Given the description of an element on the screen output the (x, y) to click on. 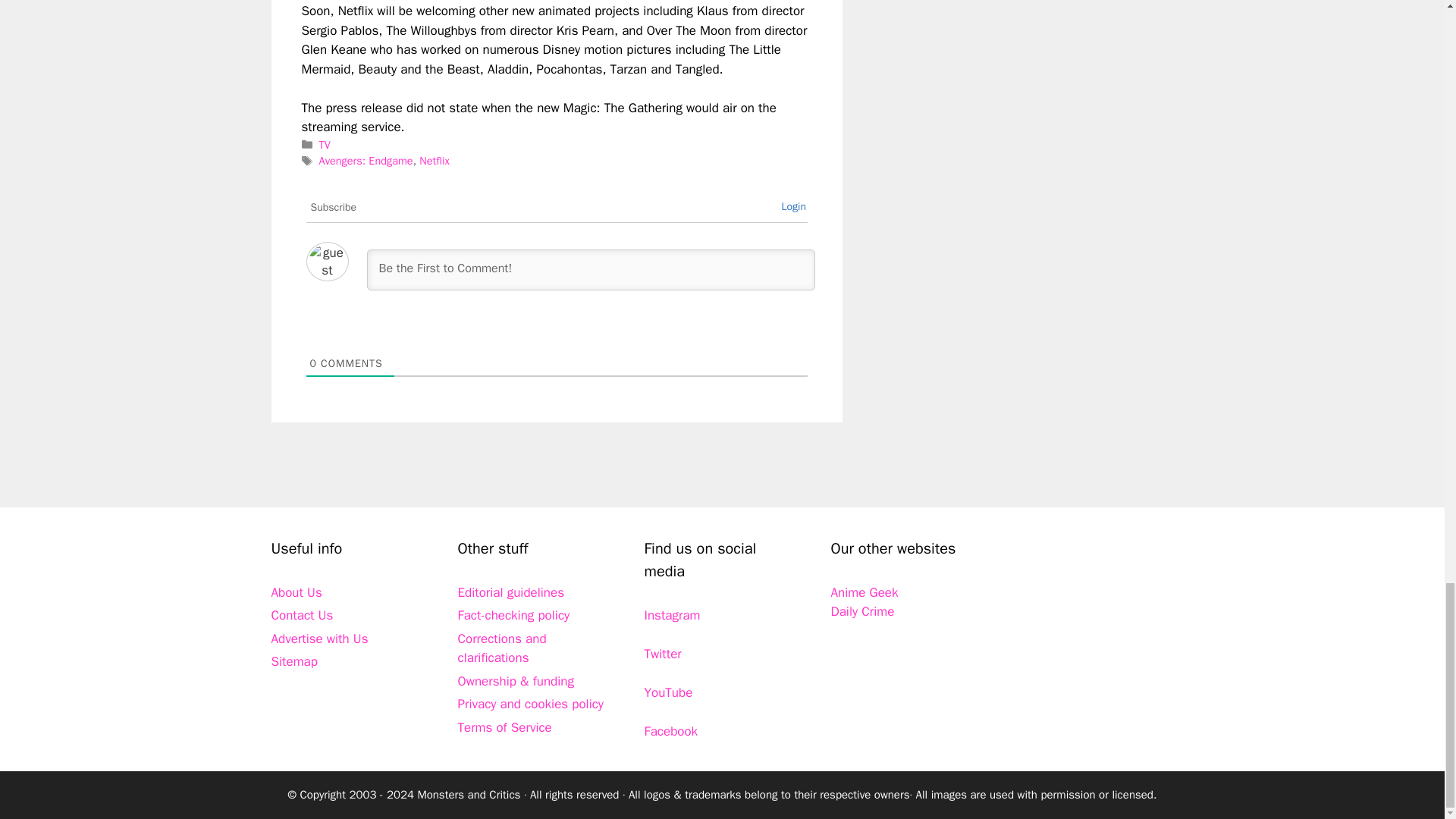
Fact-checking policy (514, 615)
Login (793, 205)
Twitter (663, 653)
Contact Us (301, 615)
About Us (295, 592)
Netflix (434, 160)
Advertise with Us (319, 638)
Corrections and clarifications (502, 648)
Privacy and cookies policy (531, 703)
Avengers: Endgame (365, 160)
